Given the description of an element on the screen output the (x, y) to click on. 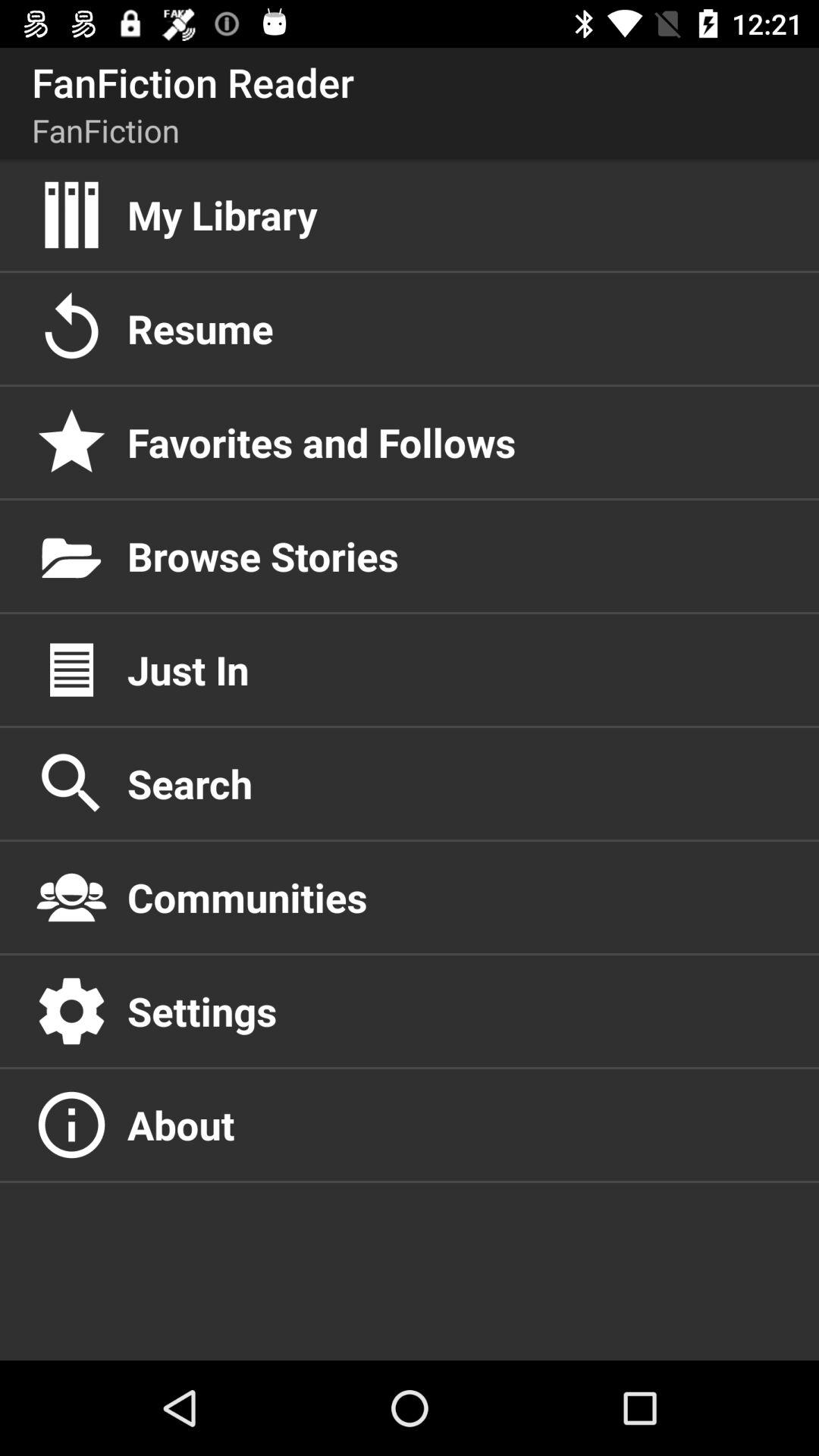
tap the resume item (457, 328)
